Given the description of an element on the screen output the (x, y) to click on. 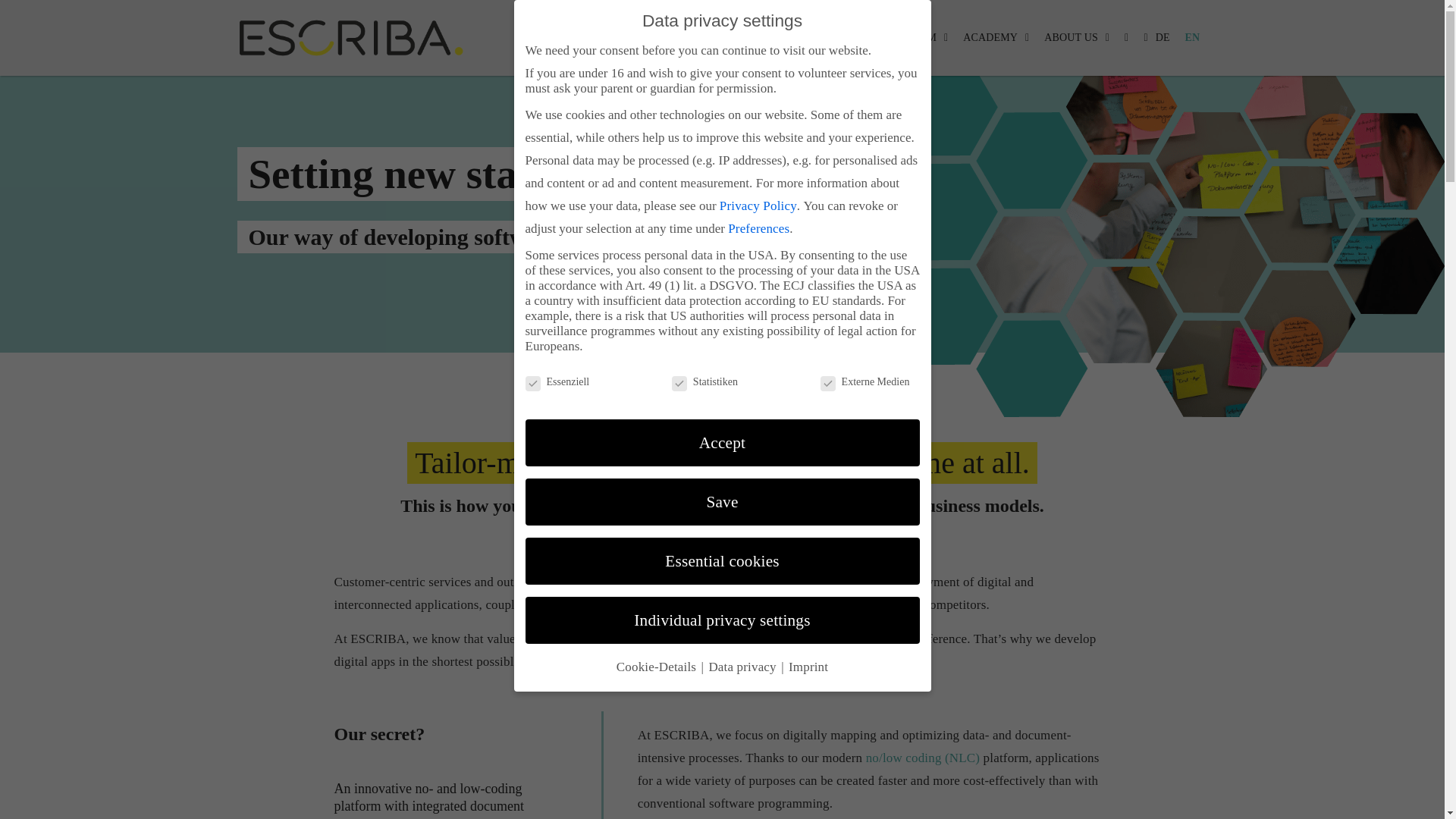
EN (1192, 37)
EN (1192, 37)
DE (1155, 37)
SOLUTIONS (829, 37)
DE (1155, 37)
ACADEMY (995, 37)
PLATFORM (914, 37)
ABOUT US (1076, 37)
